Given the description of an element on the screen output the (x, y) to click on. 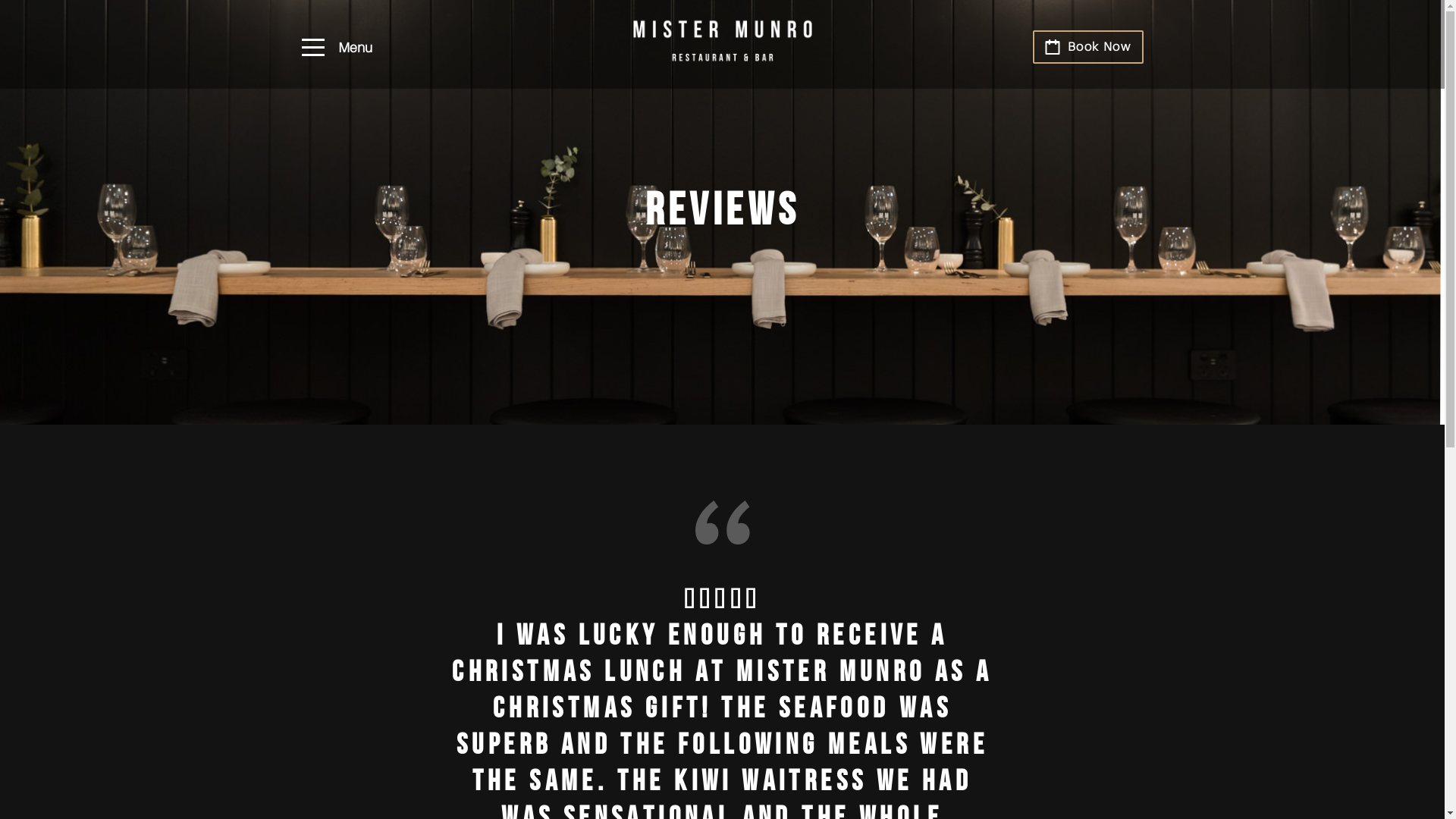
Book Now Element type: text (1087, 46)
Menu Element type: text (336, 47)
